Given the description of an element on the screen output the (x, y) to click on. 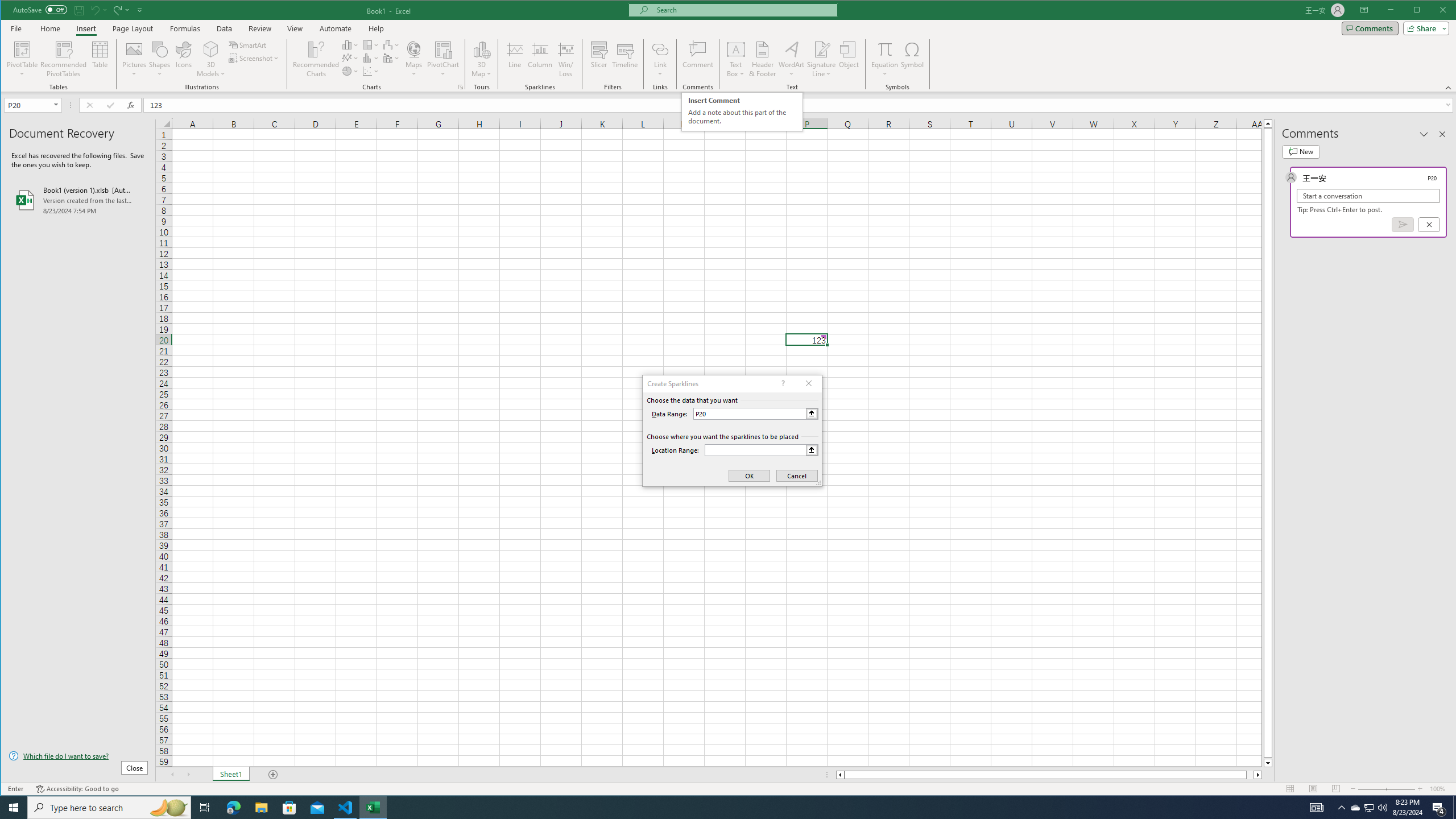
Pictures (134, 59)
Cancel (1428, 224)
WordArt (791, 59)
Icons (183, 59)
Start a conversation (1368, 195)
Insert Statistic Chart (371, 57)
PivotTable (22, 48)
